Given the description of an element on the screen output the (x, y) to click on. 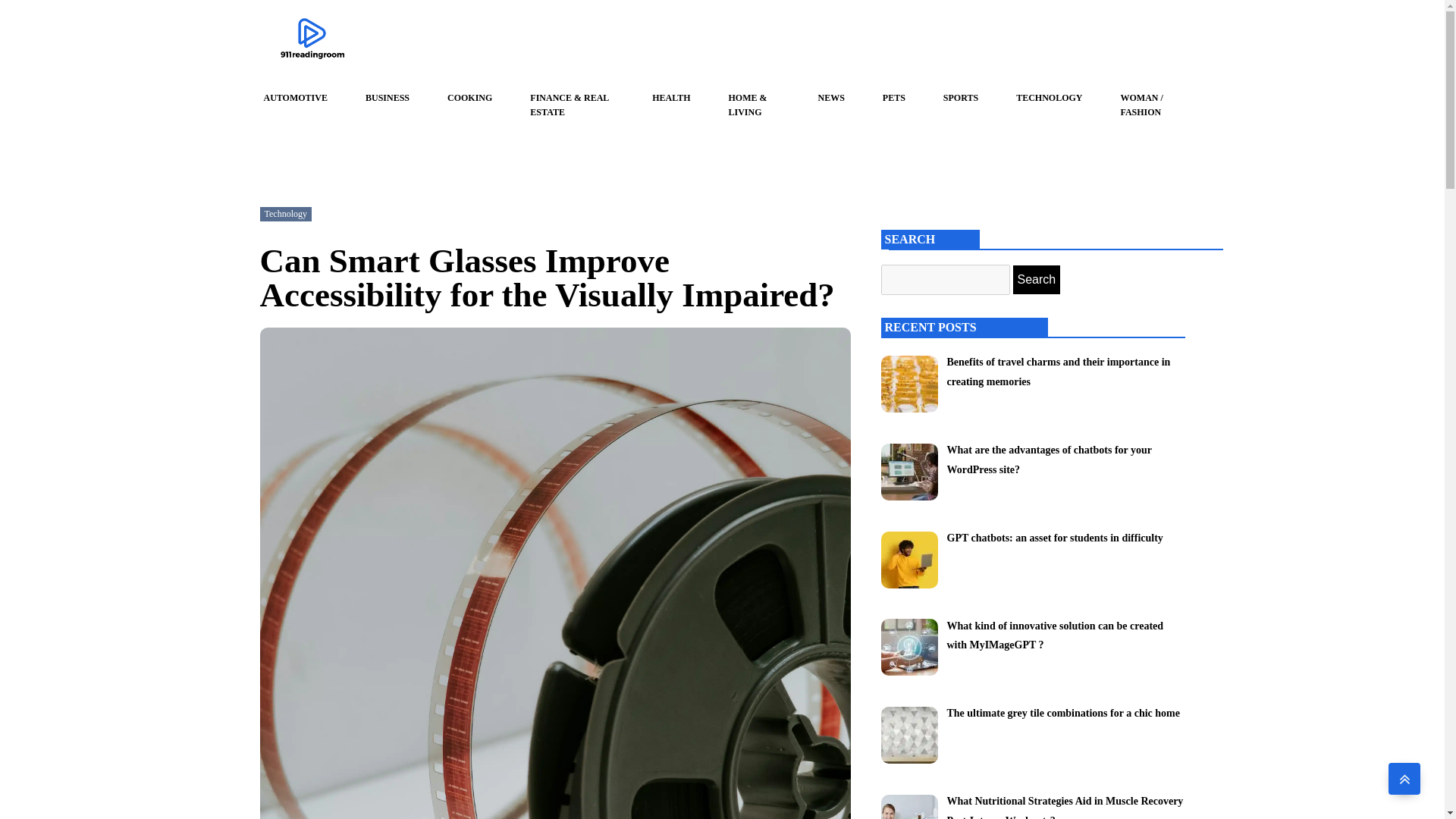
COOKING (469, 98)
Search (1037, 279)
What are the advantages of chatbots for your WordPress site? (1048, 459)
Search (1037, 279)
GPT chatbots: an asset for students in difficulty (1053, 536)
SPORTS (960, 98)
The ultimate grey tile combinations for a chic home (1062, 712)
BUSINESS (387, 98)
PETS (893, 98)
